Given the description of an element on the screen output the (x, y) to click on. 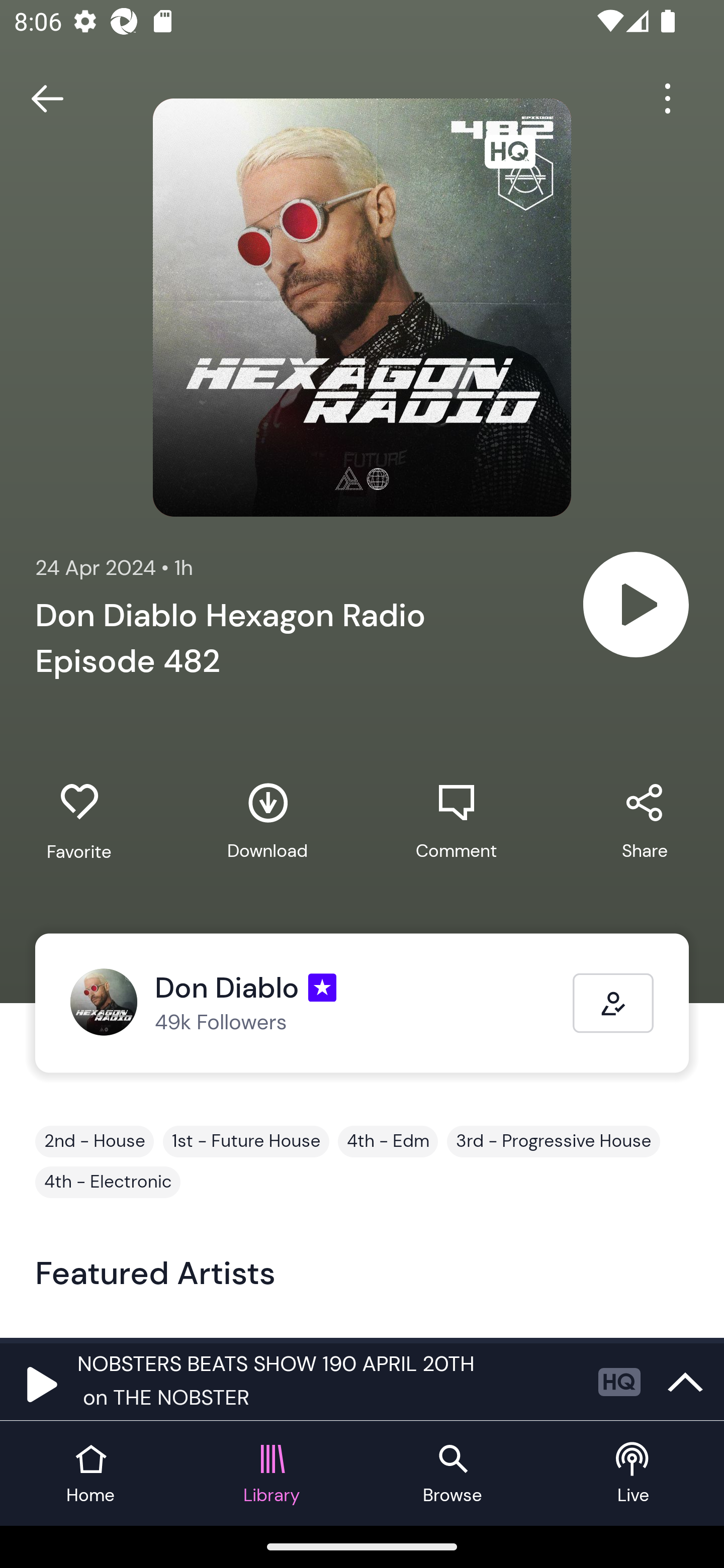
Favorite (79, 821)
Download (267, 821)
Comment (455, 821)
Share (644, 821)
Don Diablo, 49k Followers Don Diablo 49k Followers (321, 1003)
Following (612, 1003)
2nd - House (94, 1141)
1st - Future House (245, 1141)
4th - Edm (388, 1141)
3rd - Progressive House (553, 1141)
4th - Electronic (107, 1181)
Home tab Home (90, 1473)
Library tab Library (271, 1473)
Browse tab Browse (452, 1473)
Live tab Live (633, 1473)
